Given the description of an element on the screen output the (x, y) to click on. 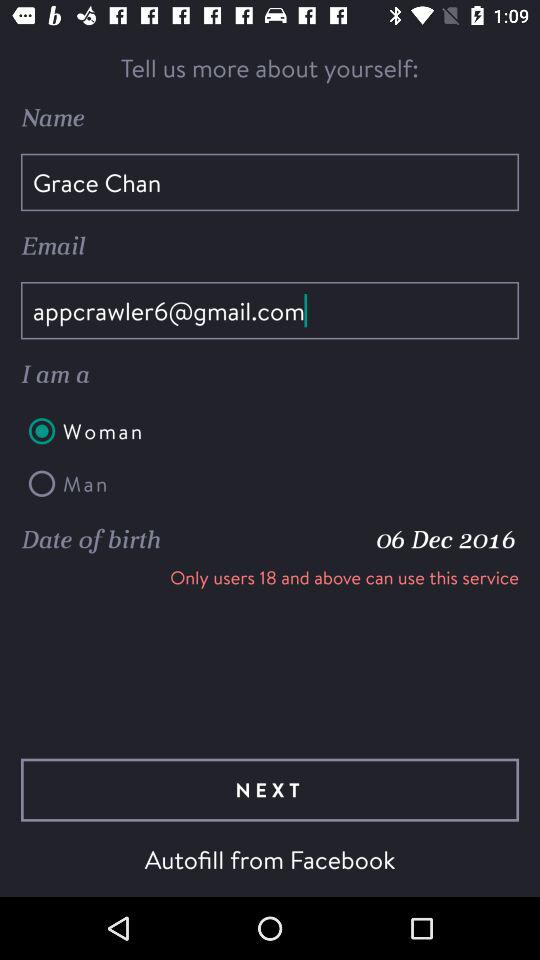
flip until the autofill from facebook item (270, 859)
